Given the description of an element on the screen output the (x, y) to click on. 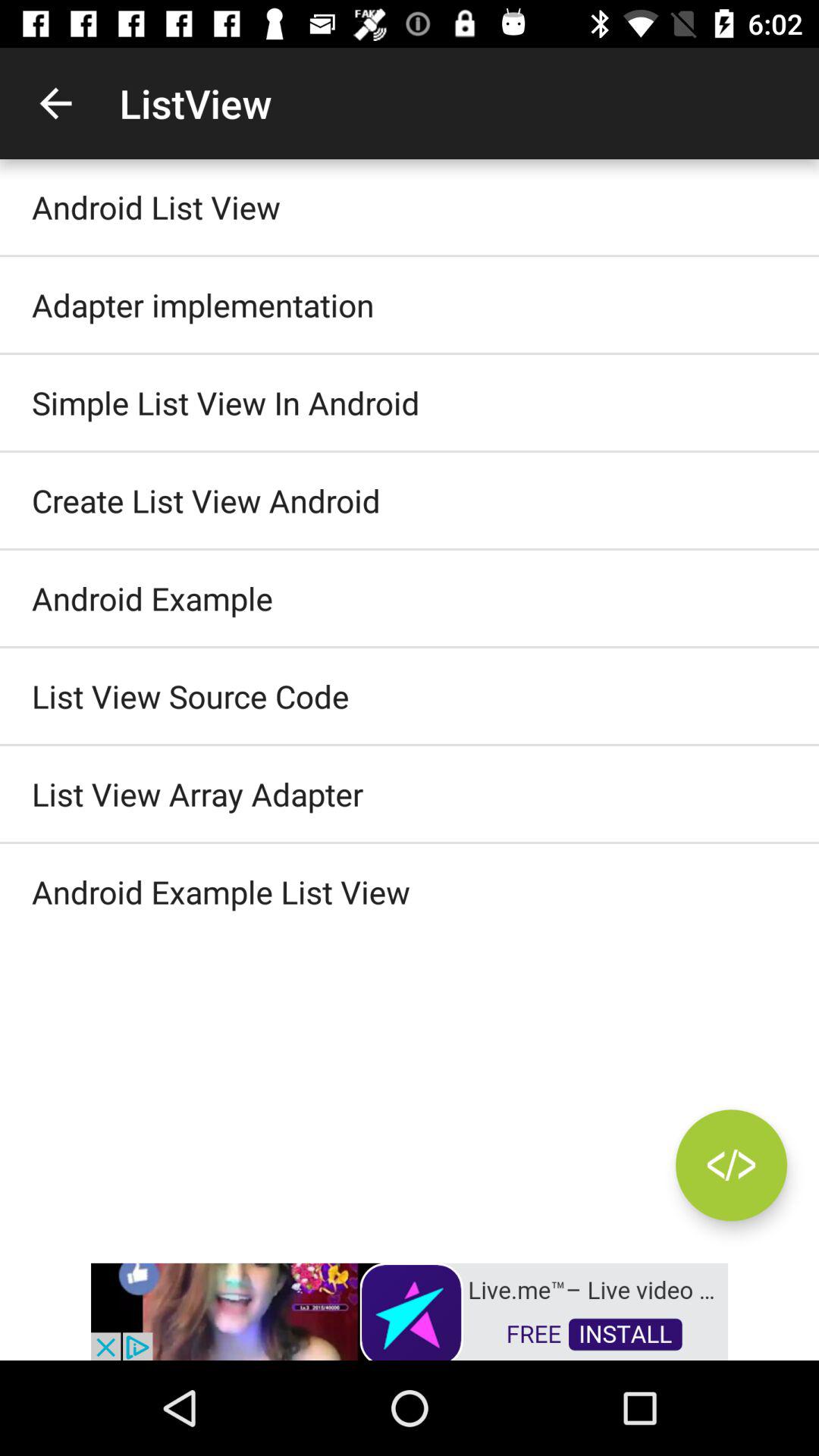
click advertisement (409, 1310)
